Given the description of an element on the screen output the (x, y) to click on. 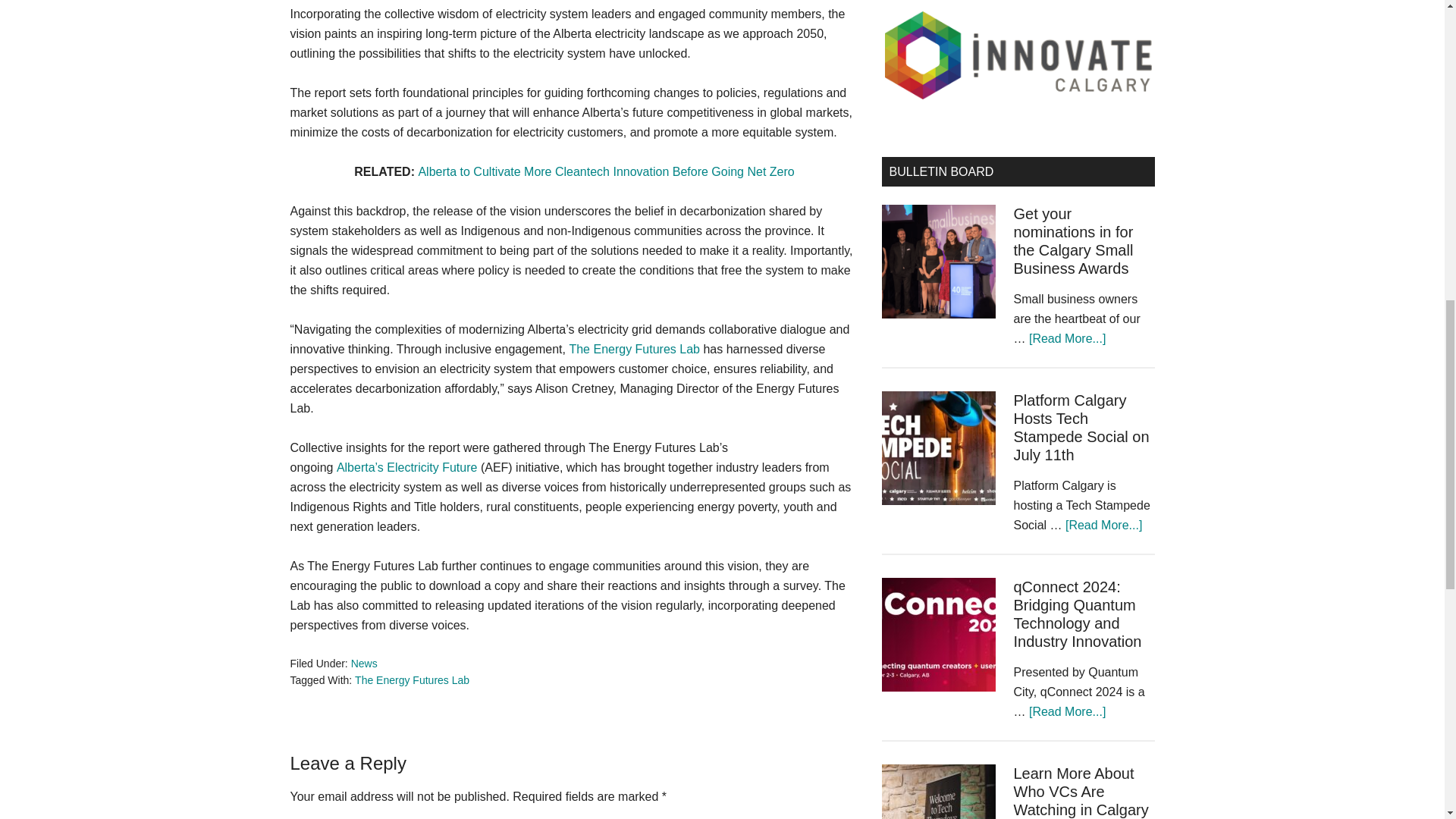
Platform Calgary Hosts Tech Stampede Social on July 11th (1080, 427)
The Energy Futures Lab (411, 680)
The Energy Futures Lab (634, 349)
News (363, 663)
